Given the description of an element on the screen output the (x, y) to click on. 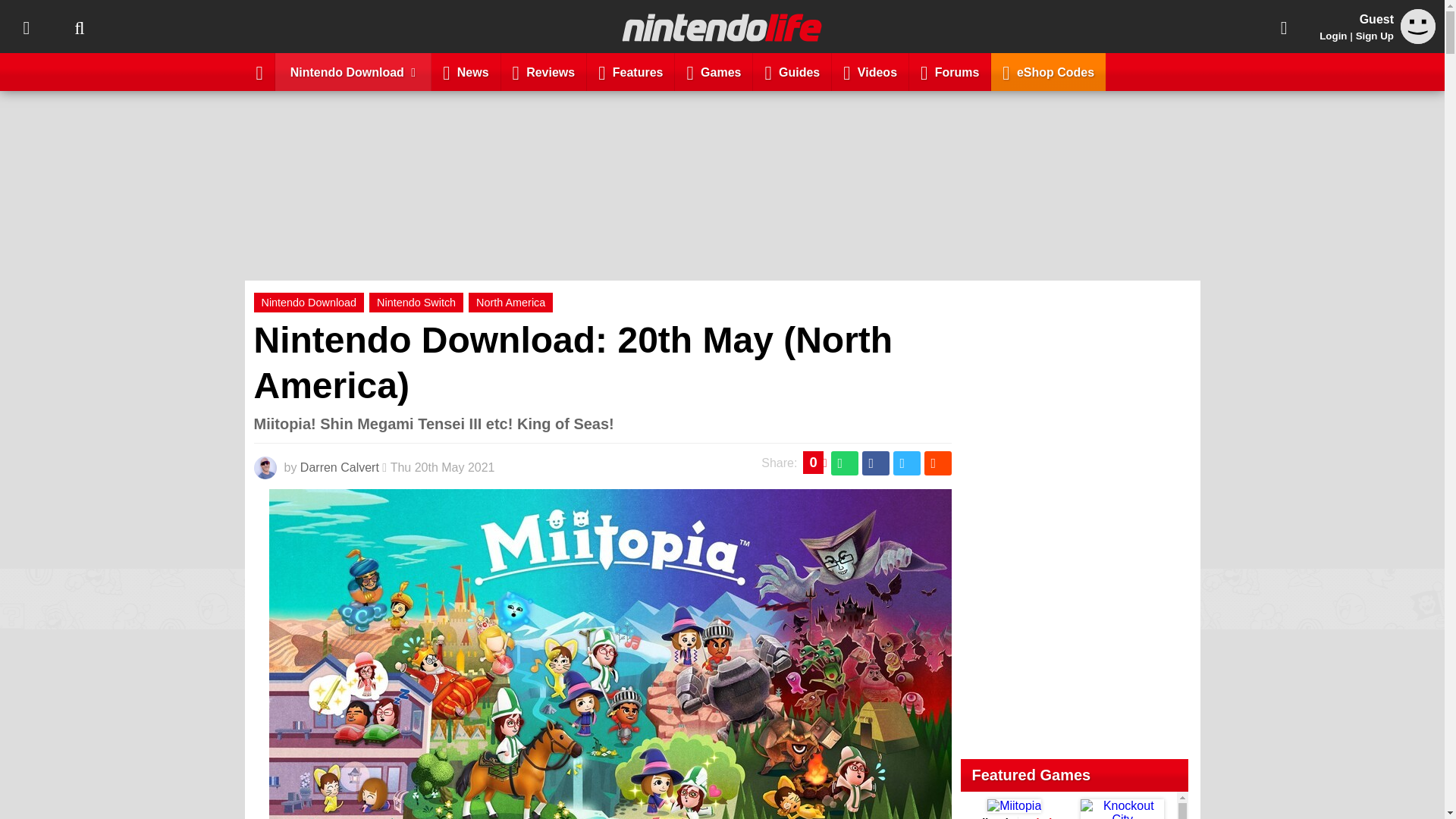
Nintendo Download (308, 302)
Share this on Reddit (936, 463)
Features (630, 71)
Topics (26, 26)
Nintendo Switch (416, 302)
Guest (1417, 39)
Share this on WhatsApp (845, 463)
Videos (869, 71)
Share This Page (1283, 26)
Nintendo Life (721, 27)
Share this on Facebook (874, 463)
Forums (949, 71)
Games (713, 71)
Darren Calvert (338, 467)
Nintendo Life (721, 27)
